Given the description of an element on the screen output the (x, y) to click on. 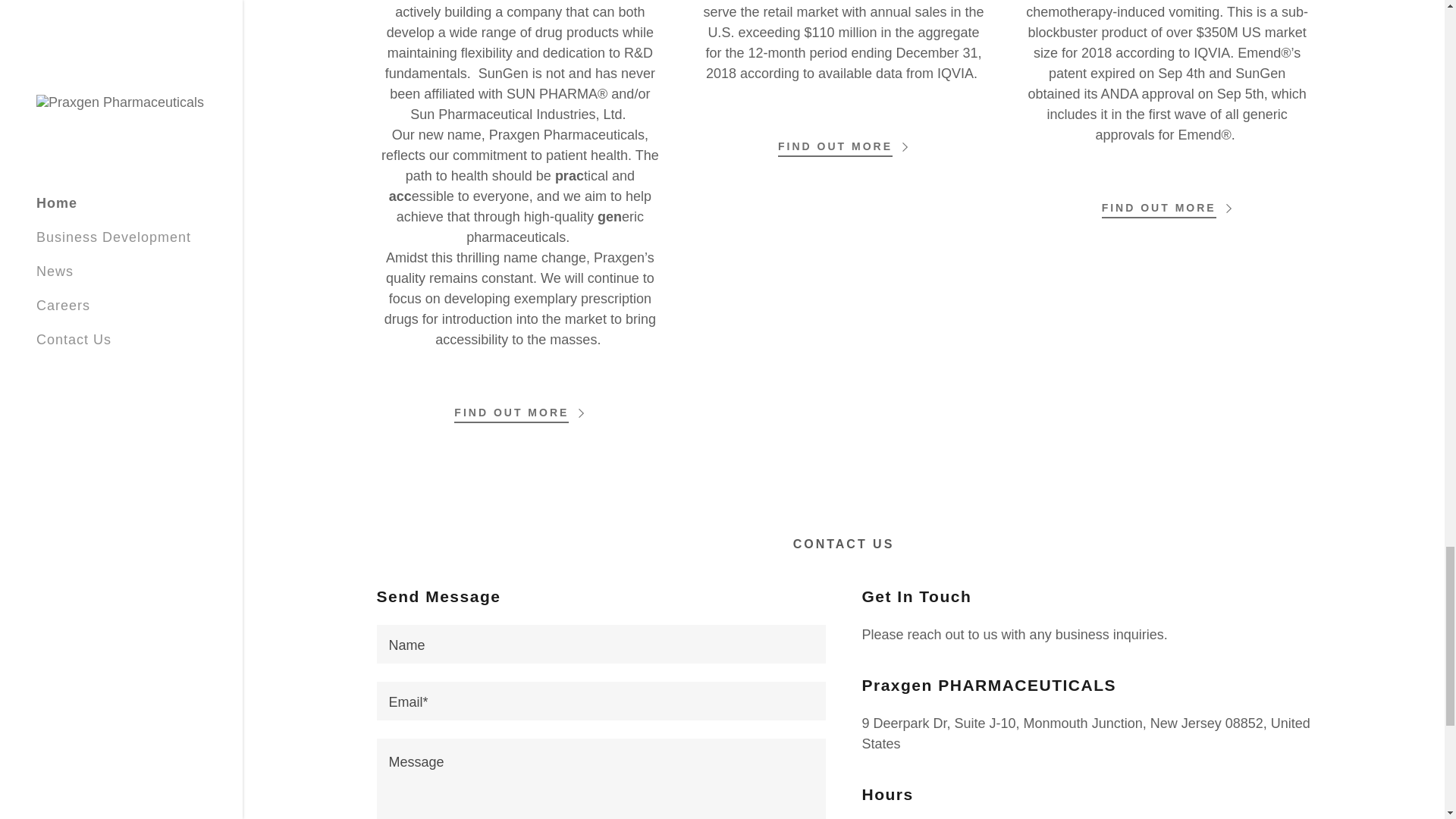
FIND OUT MORE (519, 408)
FIND OUT MORE (1167, 203)
FIND OUT MORE (842, 141)
